Given the description of an element on the screen output the (x, y) to click on. 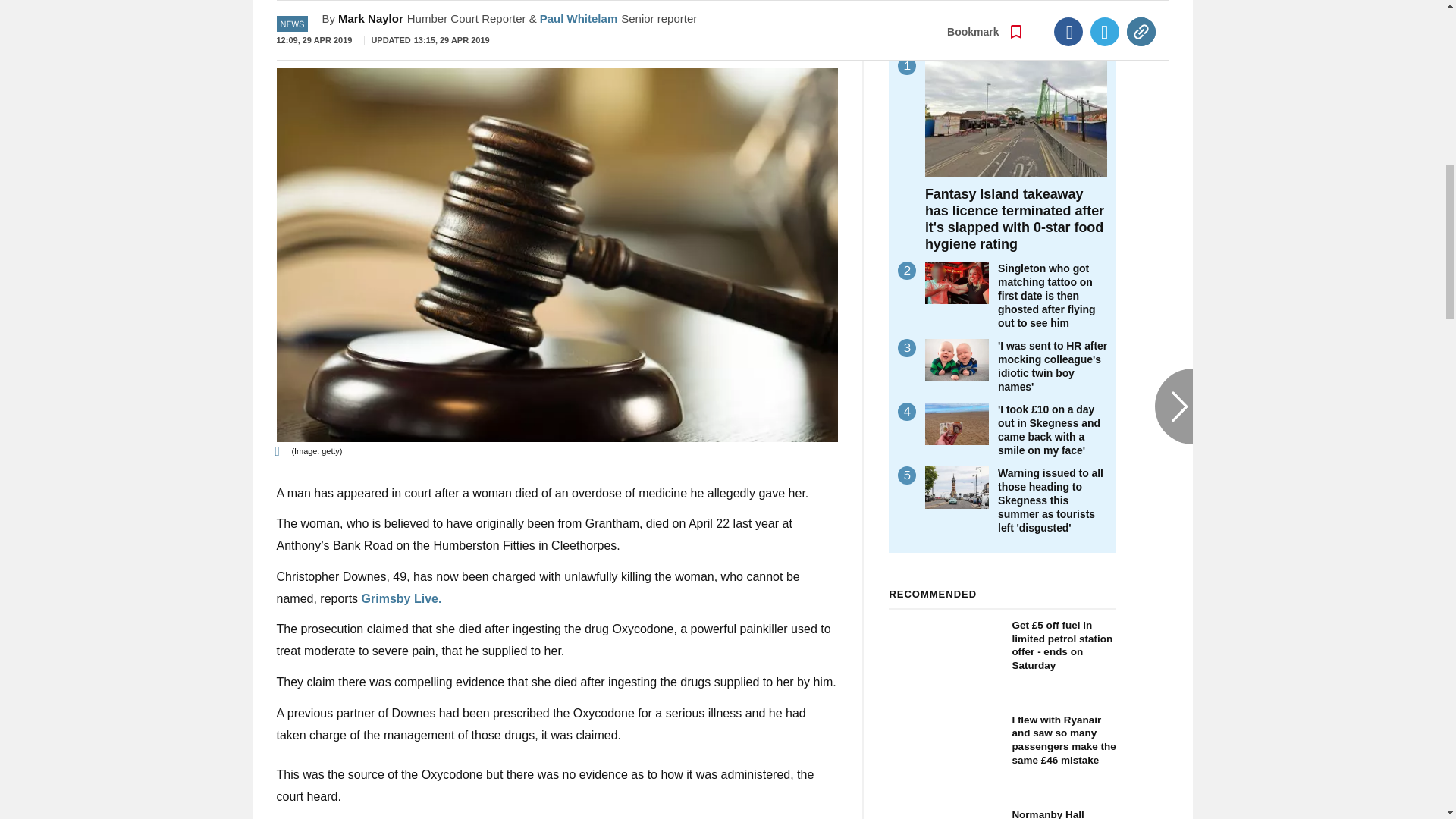
Go (730, 34)
